Given the description of an element on the screen output the (x, y) to click on. 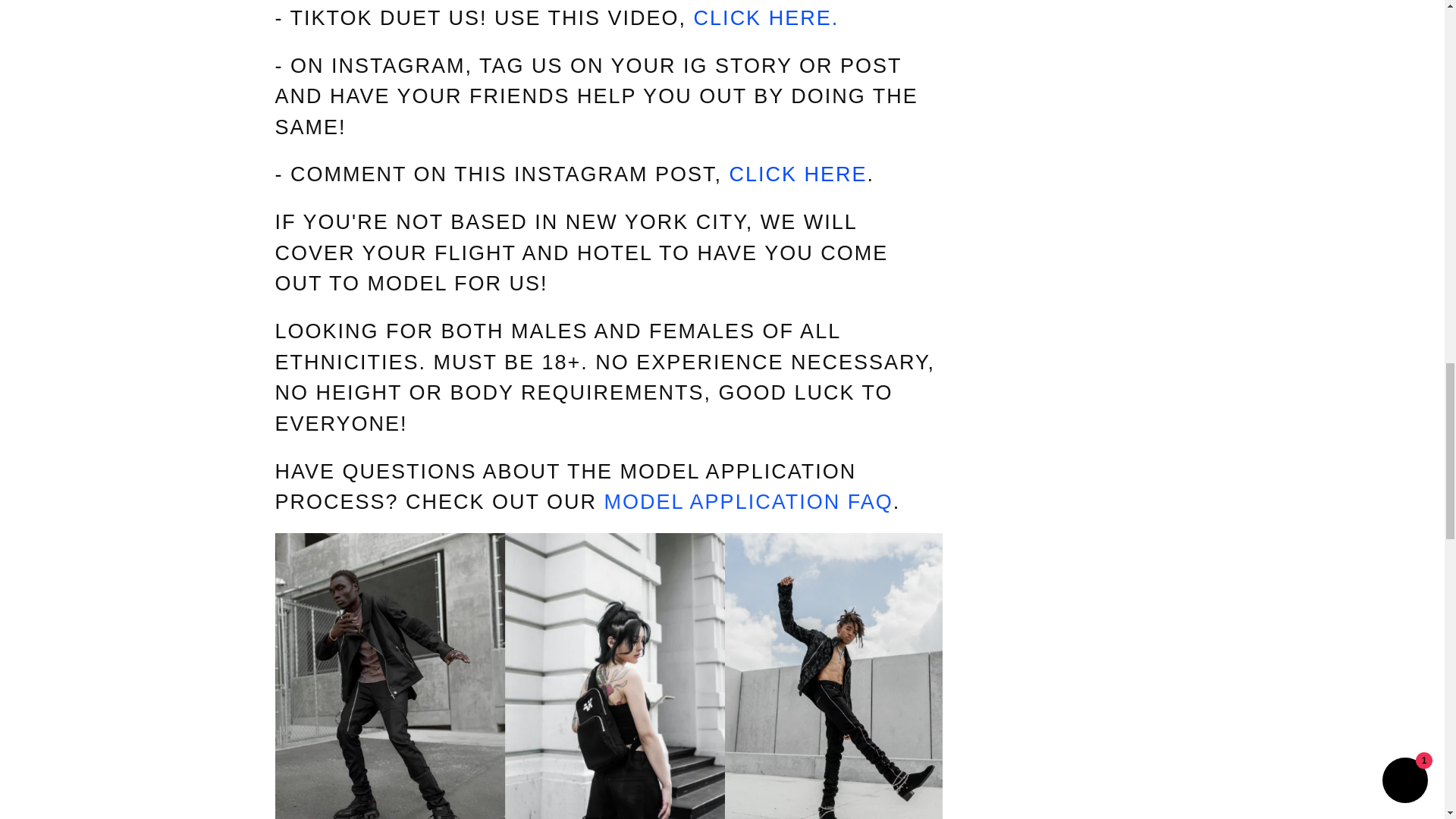
model application faq (748, 501)
